Given the description of an element on the screen output the (x, y) to click on. 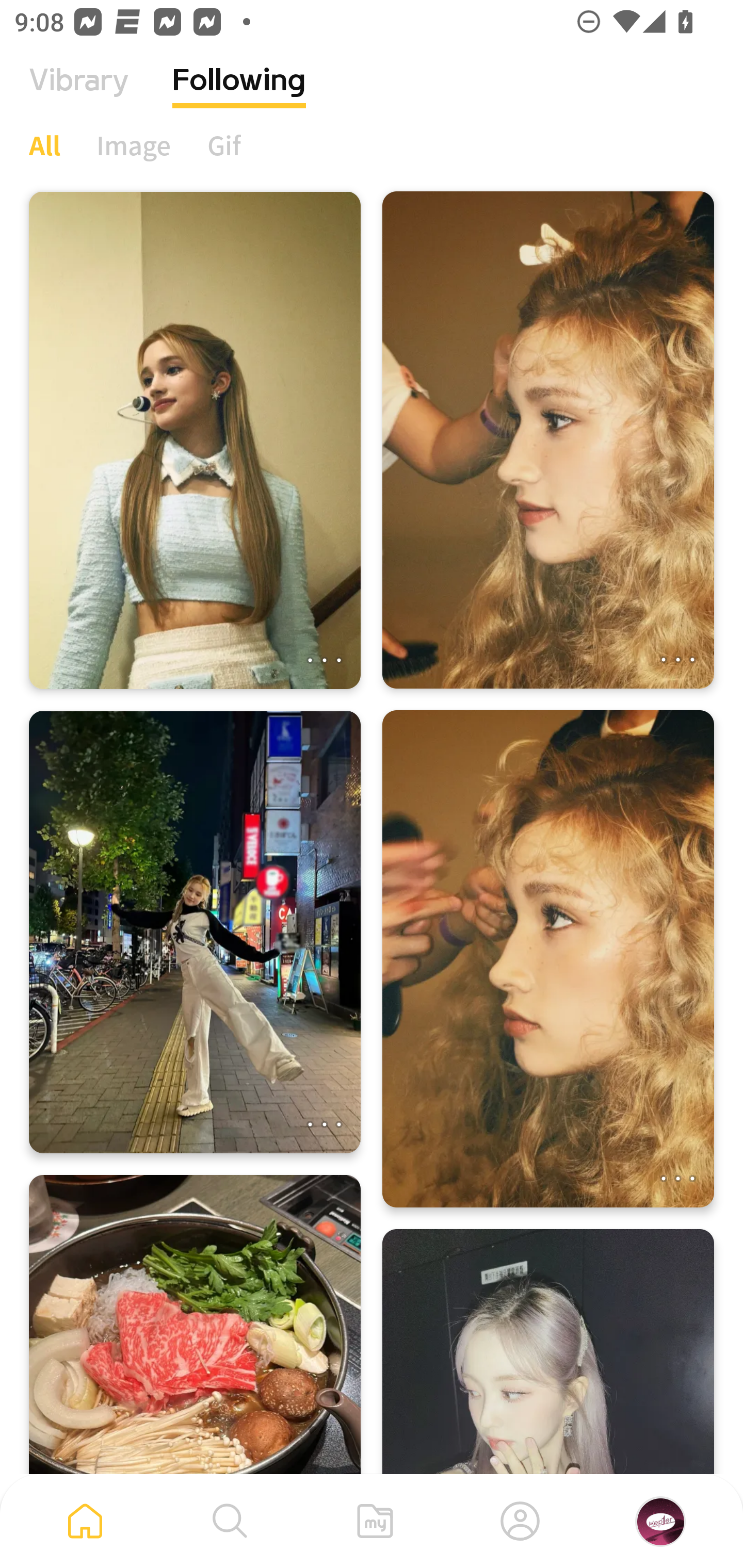
Vibrary (78, 95)
Following (239, 95)
All (44, 145)
Image (133, 145)
Gif (223, 145)
